Given the description of an element on the screen output the (x, y) to click on. 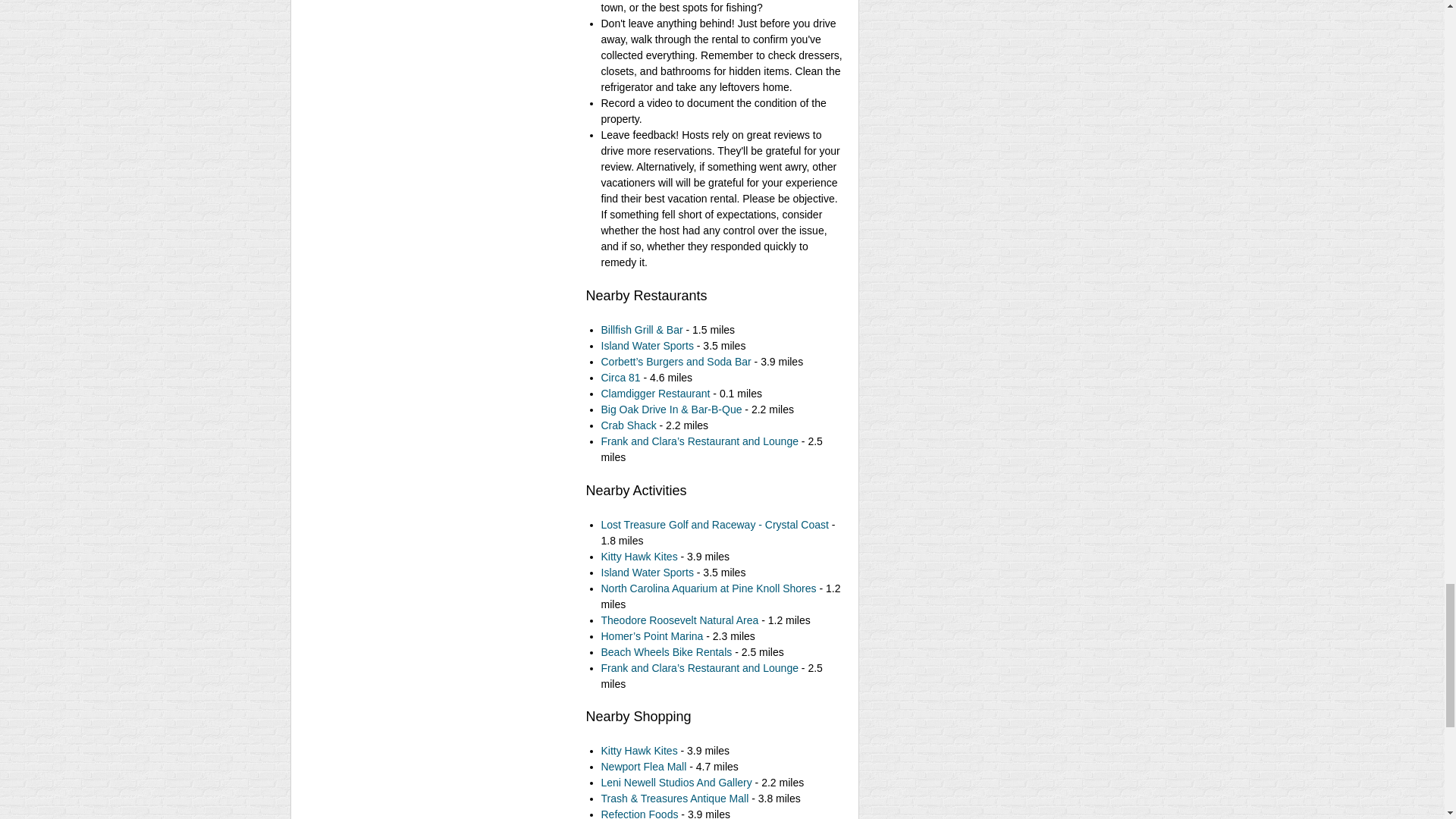
Lost Treasure Golf and Raceway - Crystal Coast (713, 524)
Crab Shack (627, 425)
Island Water Sports (646, 345)
Clamdigger Restaurant (654, 393)
Circa 81 (619, 377)
